Given the description of an element on the screen output the (x, y) to click on. 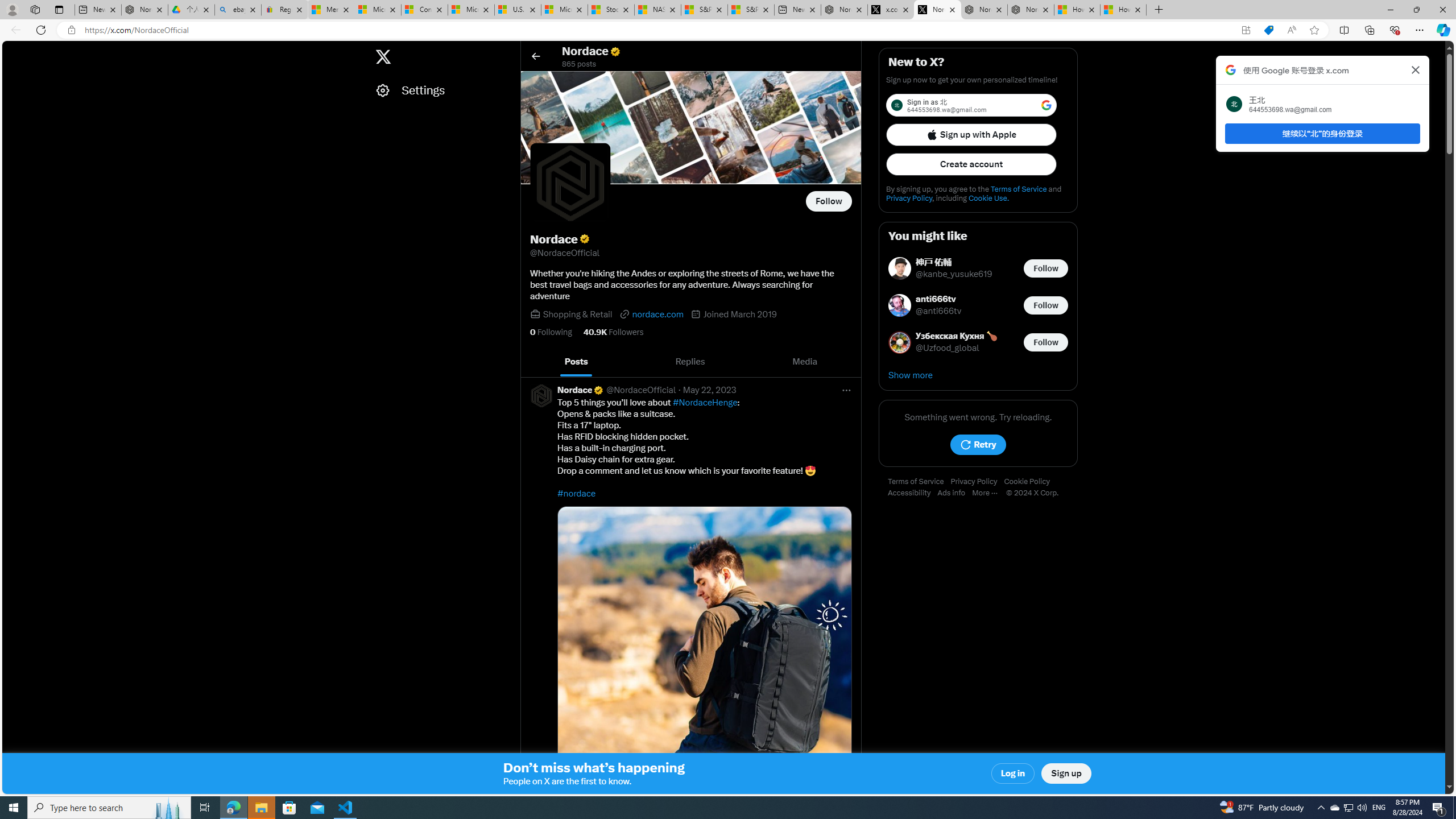
Consumer Health Data Privacy Policy (334, 9)
Media (804, 361)
Image (704, 653)
Follow @Uzfood_global (1045, 341)
Posts (576, 361)
Verified account (598, 389)
0 Following (550, 331)
Replies (689, 361)
